Given the description of an element on the screen output the (x, y) to click on. 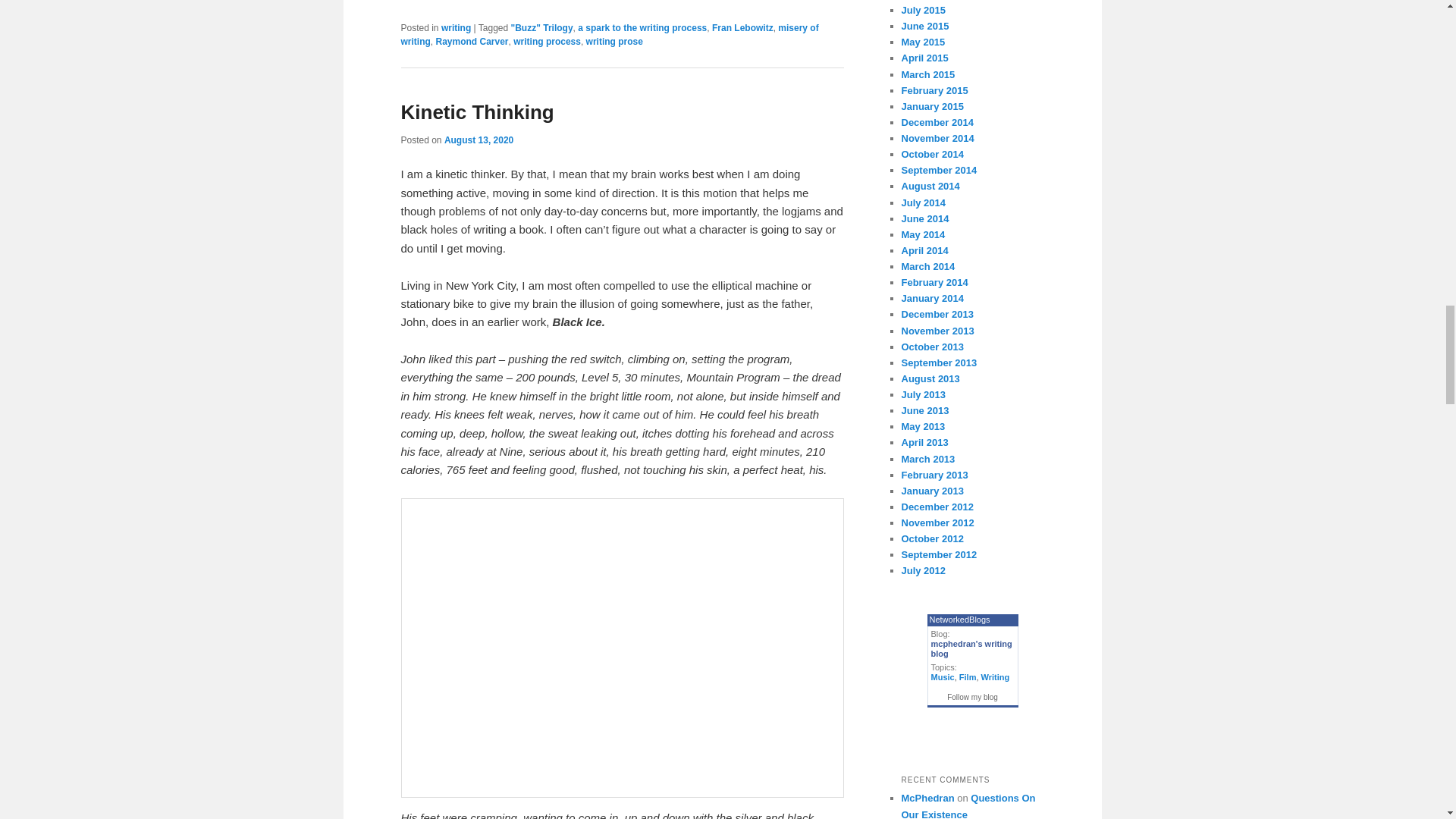
1:29 pm (478, 140)
